Given the description of an element on the screen output the (x, y) to click on. 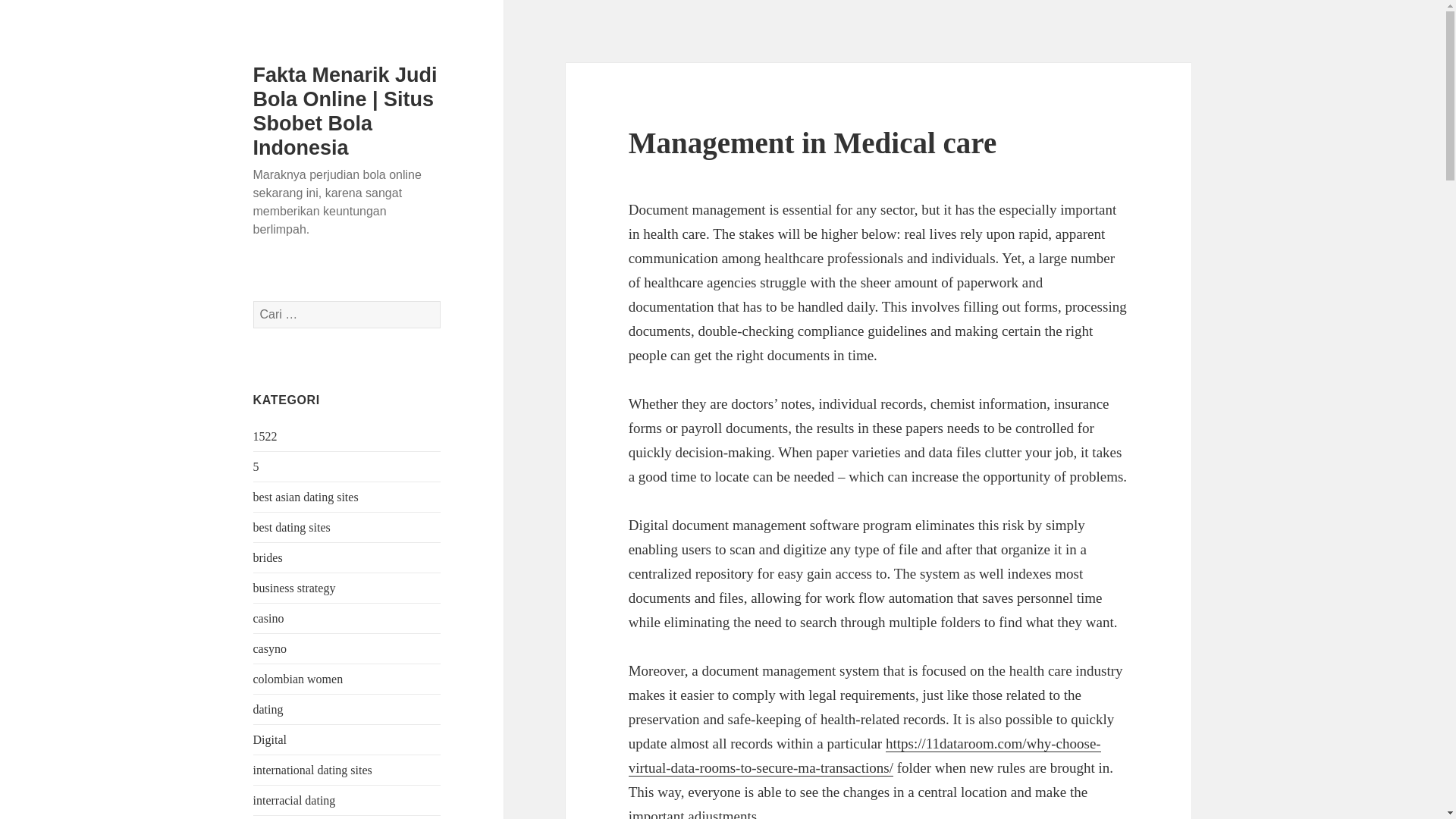
best dating sites (291, 526)
international dating sites (312, 769)
brides (267, 557)
casino (268, 617)
colombian women (298, 678)
business strategy (294, 587)
best asian dating sites (305, 496)
casyno (269, 648)
Digital (269, 739)
dating (268, 708)
interracial dating (294, 799)
1522 (265, 436)
